Given the description of an element on the screen output the (x, y) to click on. 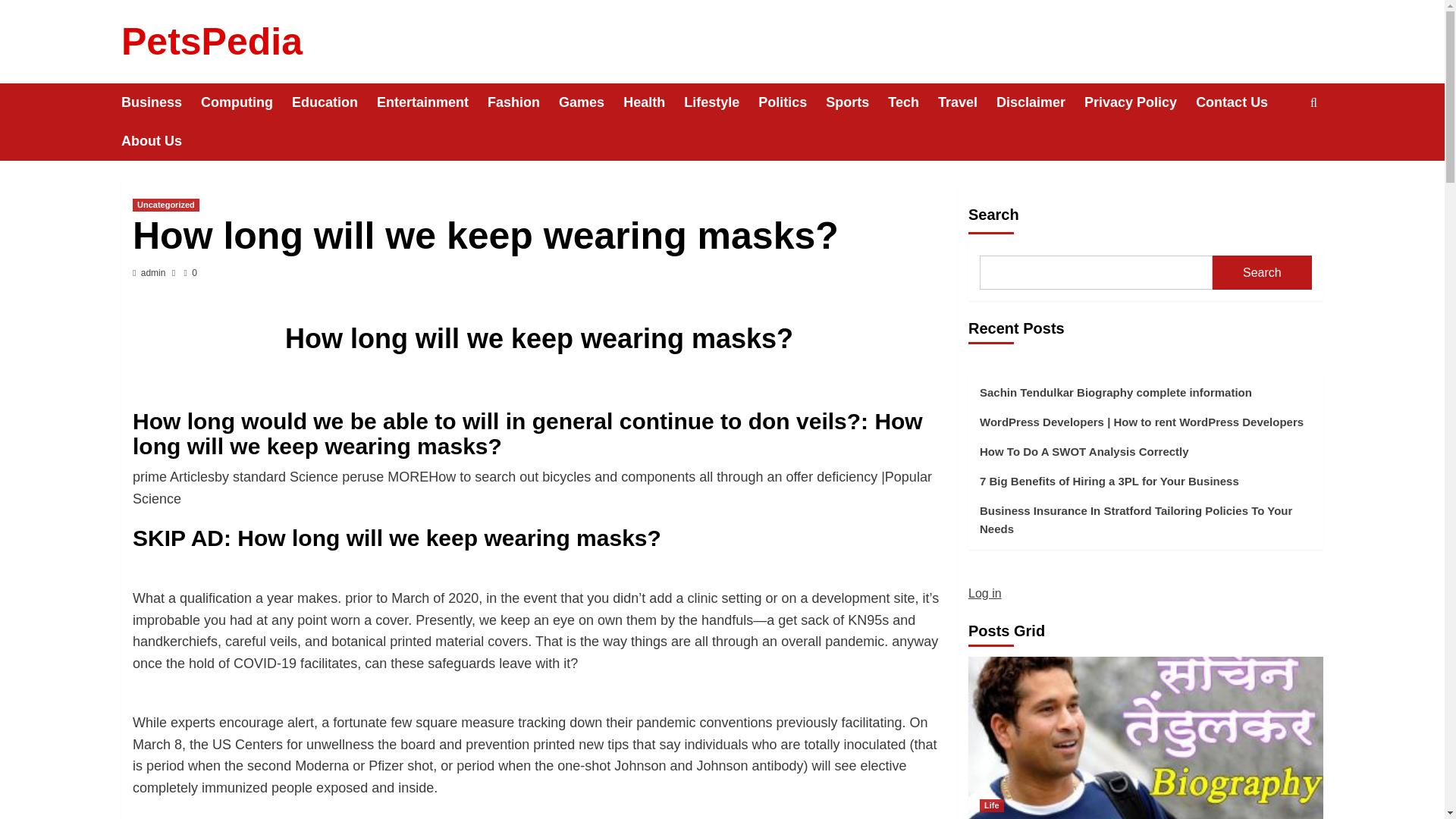
Disclaimer (1039, 102)
PetsPedia (211, 41)
Search (1278, 148)
Contact Us (1241, 102)
Uncategorized (165, 205)
admin (153, 272)
Tech (912, 102)
Health (653, 102)
Games (591, 102)
Lifestyle (721, 102)
Privacy Policy (1139, 102)
Education (334, 102)
Sports (856, 102)
About Us (160, 141)
Fashion (523, 102)
